Given the description of an element on the screen output the (x, y) to click on. 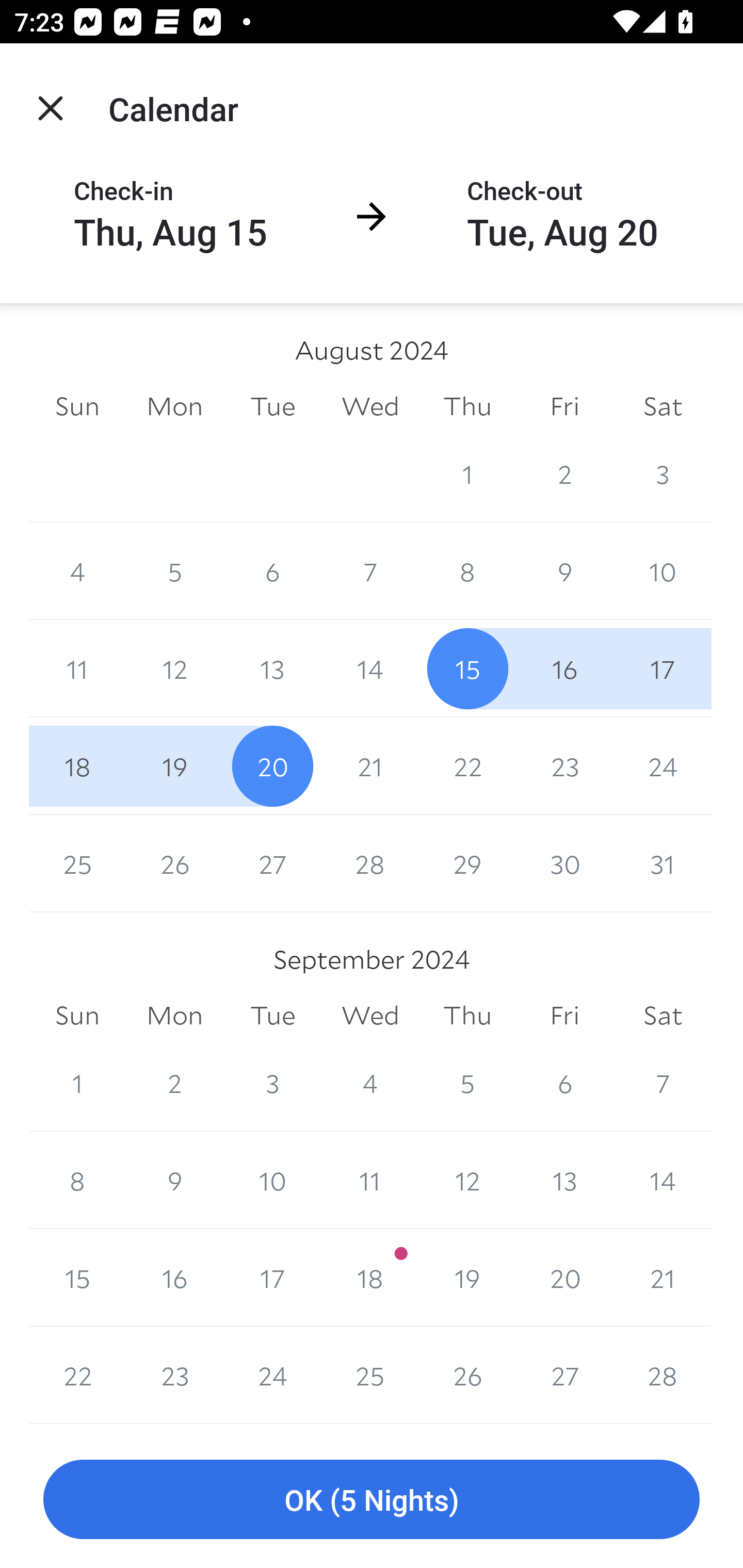
Sun (77, 405)
Mon (174, 405)
Tue (272, 405)
Wed (370, 405)
Thu (467, 405)
Fri (564, 405)
Sat (662, 405)
1 1 August 2024 (467, 473)
2 2 August 2024 (564, 473)
3 3 August 2024 (662, 473)
4 4 August 2024 (77, 570)
5 5 August 2024 (174, 570)
6 6 August 2024 (272, 570)
7 7 August 2024 (370, 570)
8 8 August 2024 (467, 570)
9 9 August 2024 (564, 570)
10 10 August 2024 (662, 570)
11 11 August 2024 (77, 668)
12 12 August 2024 (174, 668)
13 13 August 2024 (272, 668)
14 14 August 2024 (370, 668)
15 15 August 2024 (467, 668)
16 16 August 2024 (564, 668)
17 17 August 2024 (662, 668)
18 18 August 2024 (77, 766)
19 19 August 2024 (174, 766)
20 20 August 2024 (272, 766)
21 21 August 2024 (370, 766)
22 22 August 2024 (467, 766)
23 23 August 2024 (564, 766)
24 24 August 2024 (662, 766)
25 25 August 2024 (77, 863)
26 26 August 2024 (174, 863)
27 27 August 2024 (272, 863)
28 28 August 2024 (370, 863)
29 29 August 2024 (467, 863)
30 30 August 2024 (564, 863)
31 31 August 2024 (662, 863)
Sun (77, 1015)
Mon (174, 1015)
Tue (272, 1015)
Wed (370, 1015)
Thu (467, 1015)
Fri (564, 1015)
Sat (662, 1015)
1 1 September 2024 (77, 1083)
2 2 September 2024 (174, 1083)
3 3 September 2024 (272, 1083)
4 4 September 2024 (370, 1083)
